Given the description of an element on the screen output the (x, y) to click on. 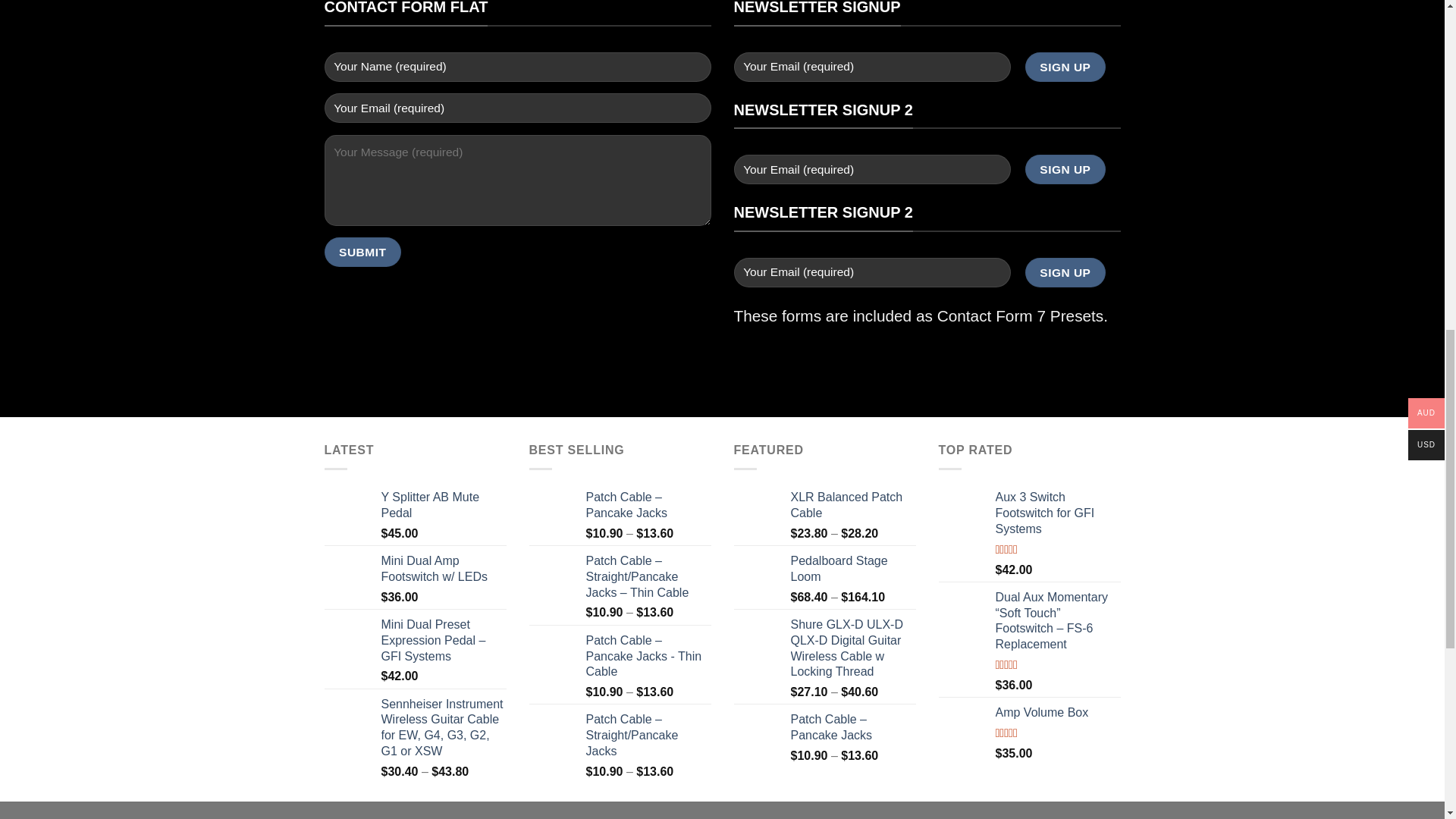
Sign Up (1065, 169)
Sign Up (1065, 272)
Submit (362, 251)
Sign Up (1065, 66)
